Given the description of an element on the screen output the (x, y) to click on. 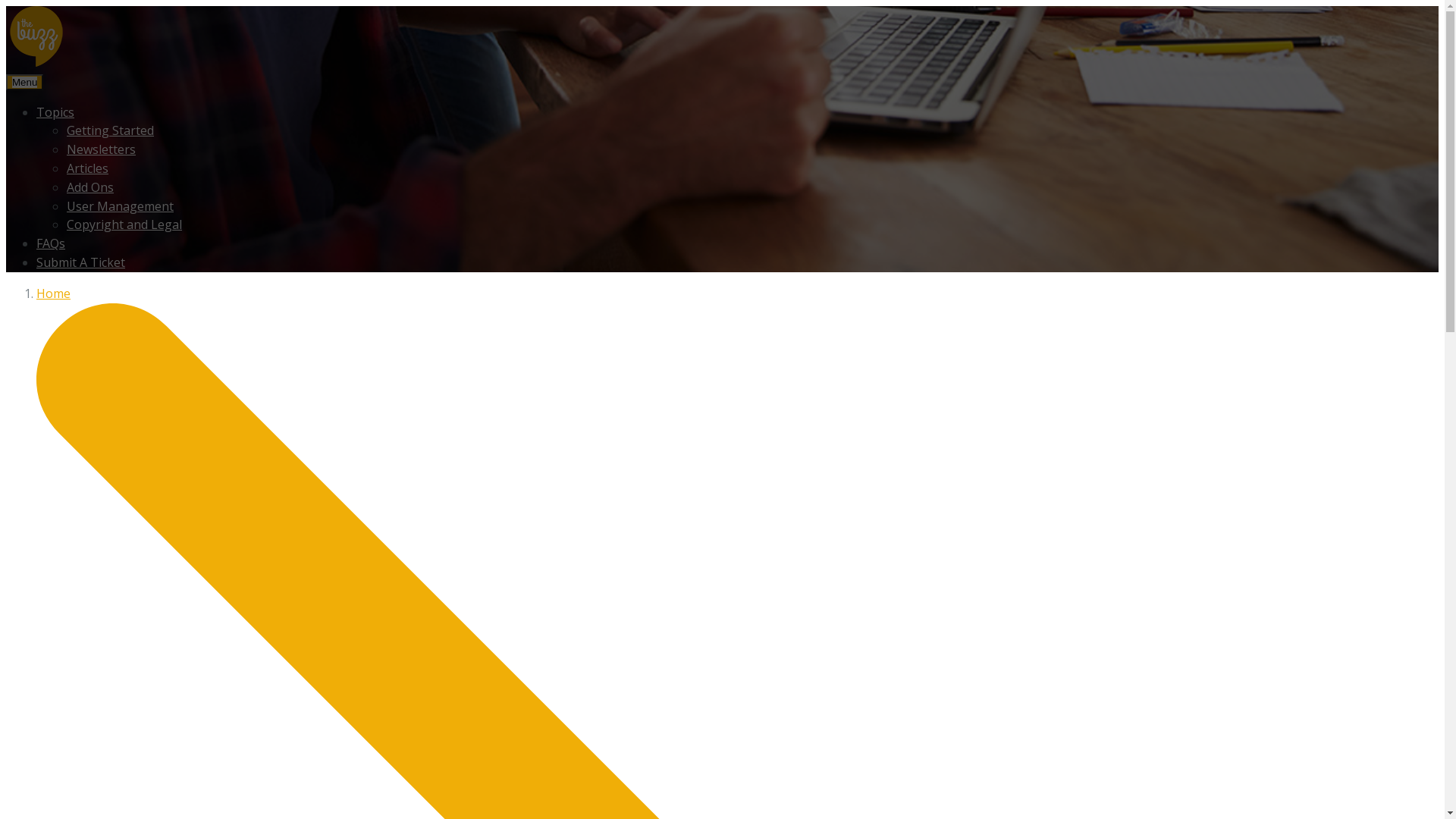
Topics Element type: text (55, 111)
FAQs Element type: text (50, 243)
Copyright and Legal Element type: text (124, 224)
User Management Element type: text (119, 205)
Getting Started Element type: text (109, 130)
Add Ons Element type: text (89, 186)
Menu Element type: text (24, 82)
Newsletters Element type: text (100, 149)
Submit A Ticket Element type: text (80, 262)
Articles Element type: text (87, 168)
